Given the description of an element on the screen output the (x, y) to click on. 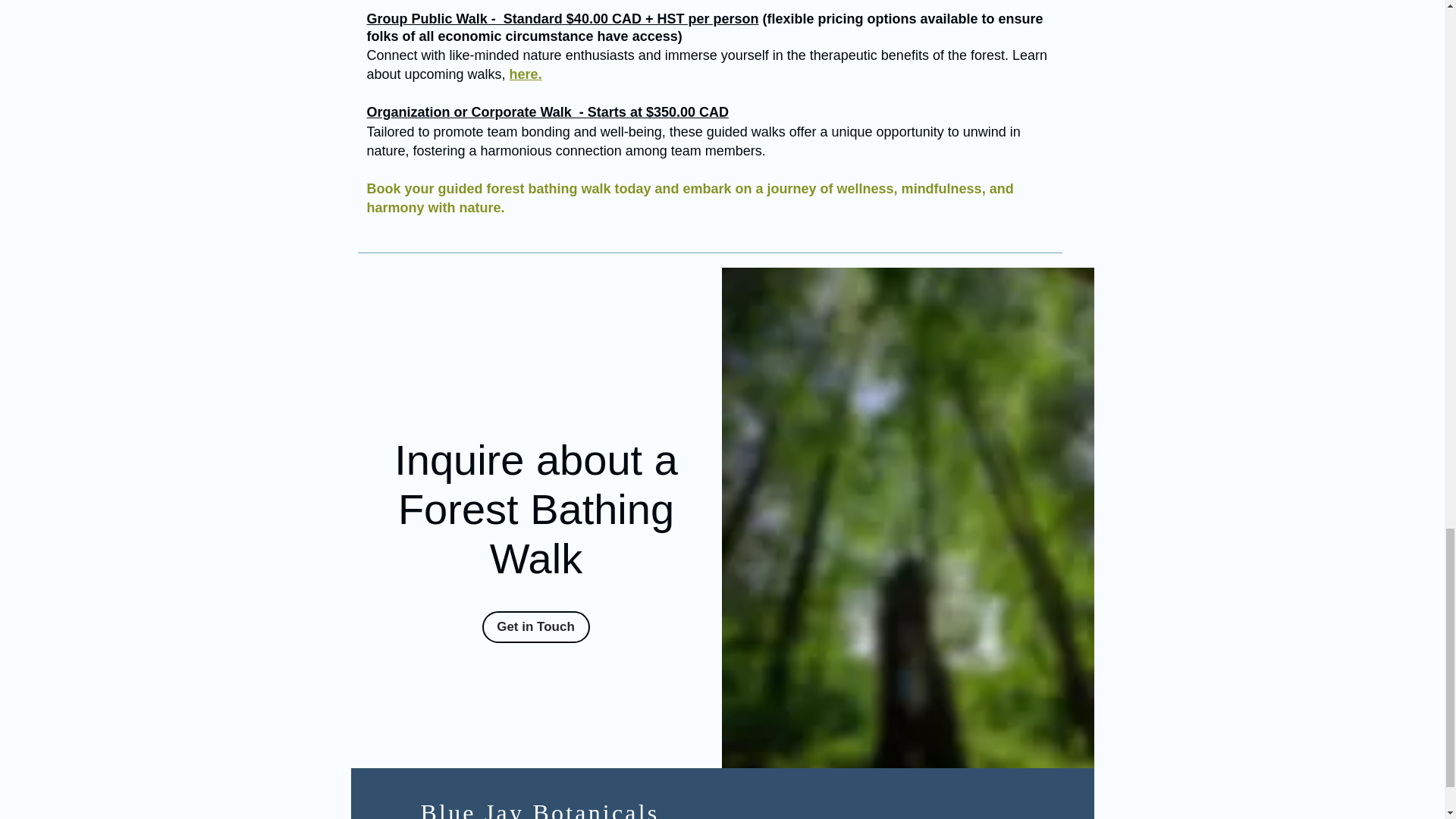
Blue Jay Botanicals (539, 809)
here. (525, 73)
Get in Touch (535, 626)
